Given the description of an element on the screen output the (x, y) to click on. 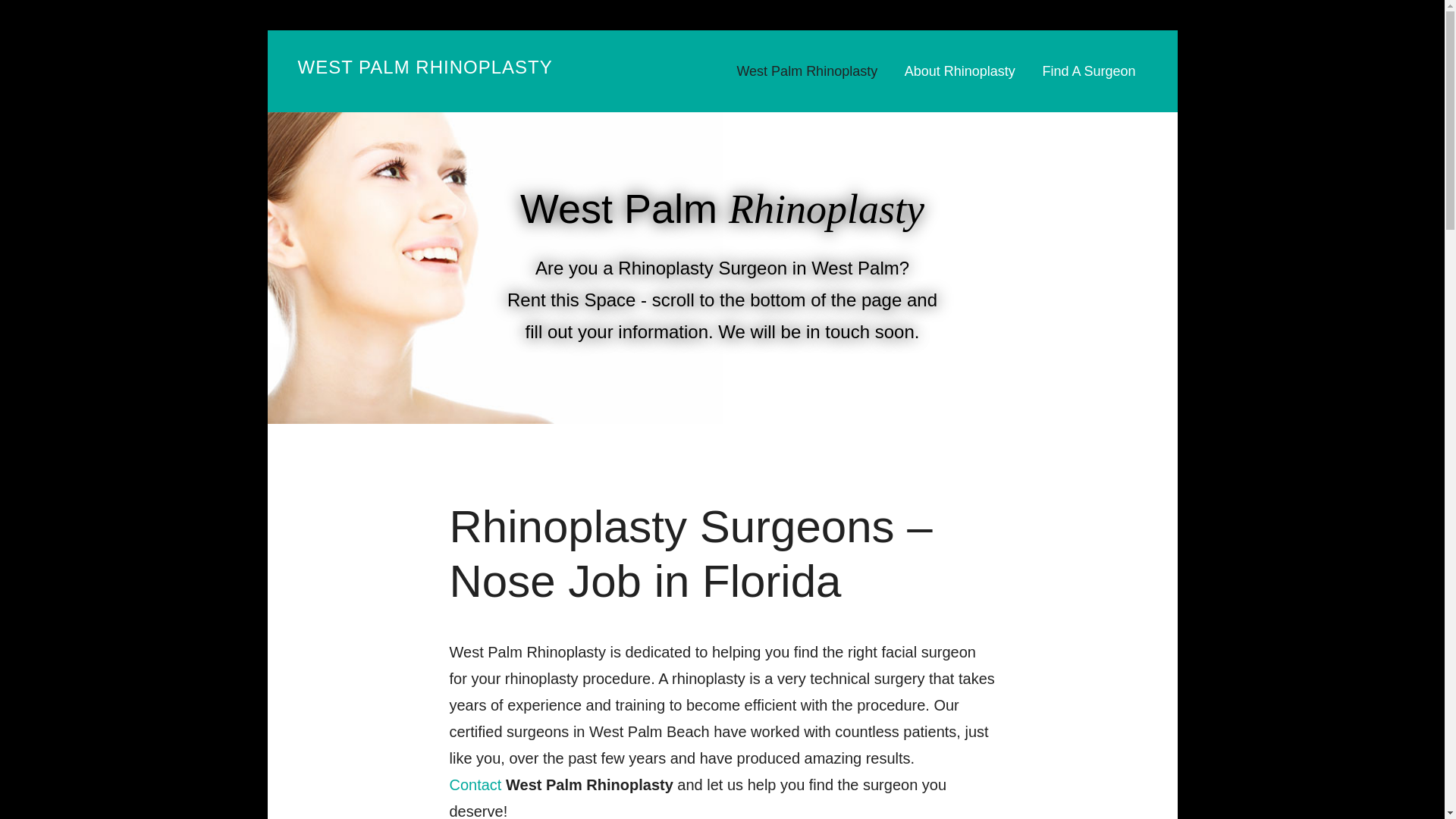
West Palm Rhinoplasty Surgeons (474, 784)
About Rhinoplasty (959, 71)
Find A Surgeon (1088, 71)
West Palm Rhinoplasty (812, 71)
WEST PALM RHINOPLASTY (424, 66)
Contact (474, 784)
